Given the description of an element on the screen output the (x, y) to click on. 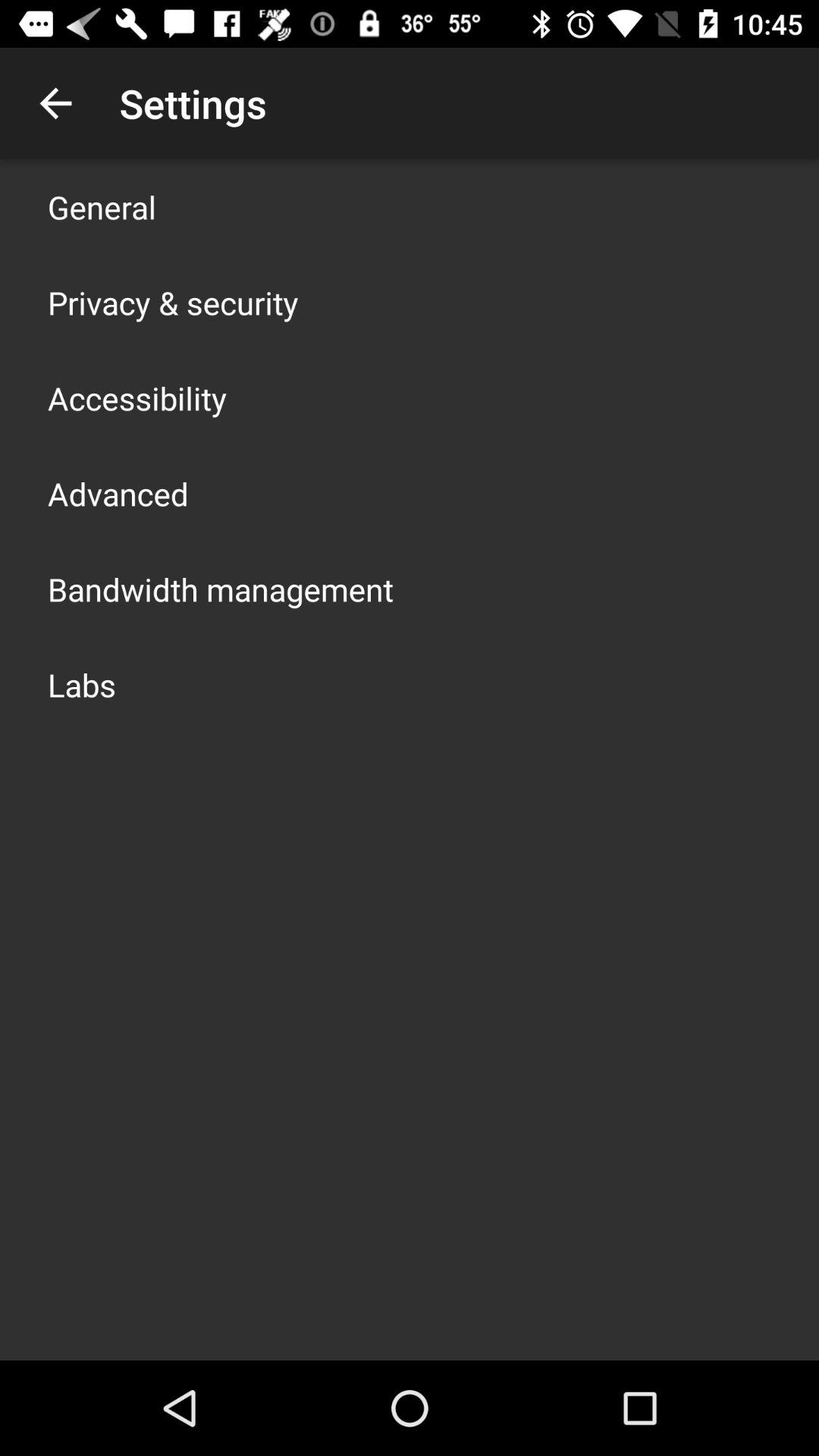
turn off app above general icon (55, 103)
